Given the description of an element on the screen output the (x, y) to click on. 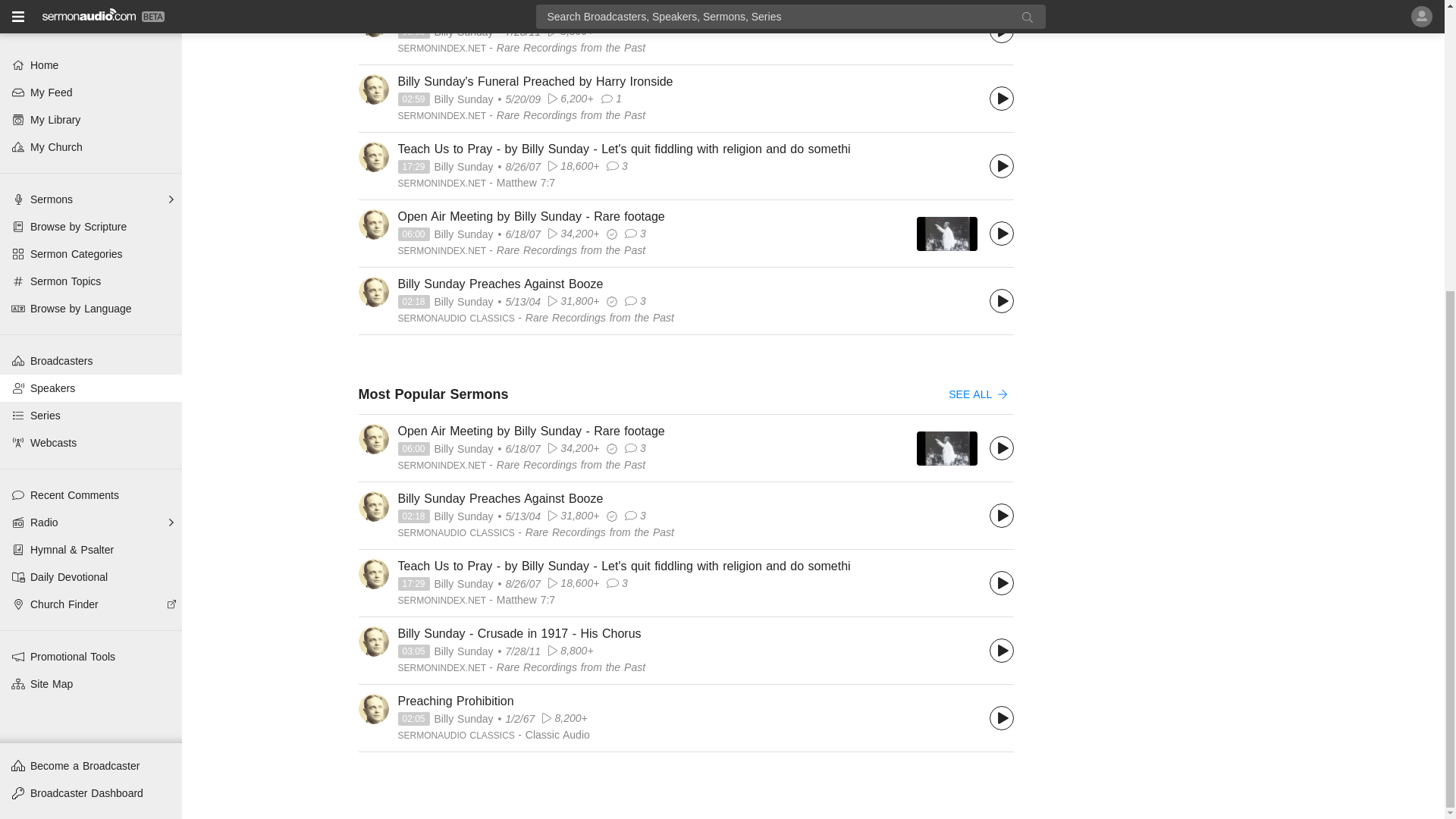
Speaker (463, 99)
Play Count (570, 98)
Promotional Tools (91, 212)
Duration (413, 166)
Series (570, 47)
Site Map (91, 239)
Comments (612, 98)
Radio (91, 77)
Daily Devotional (91, 132)
Broadcaster (443, 47)
Series (570, 114)
Duration (413, 99)
Play Count (570, 30)
Speaker (463, 166)
Webcasts (91, 6)
